Given the description of an element on the screen output the (x, y) to click on. 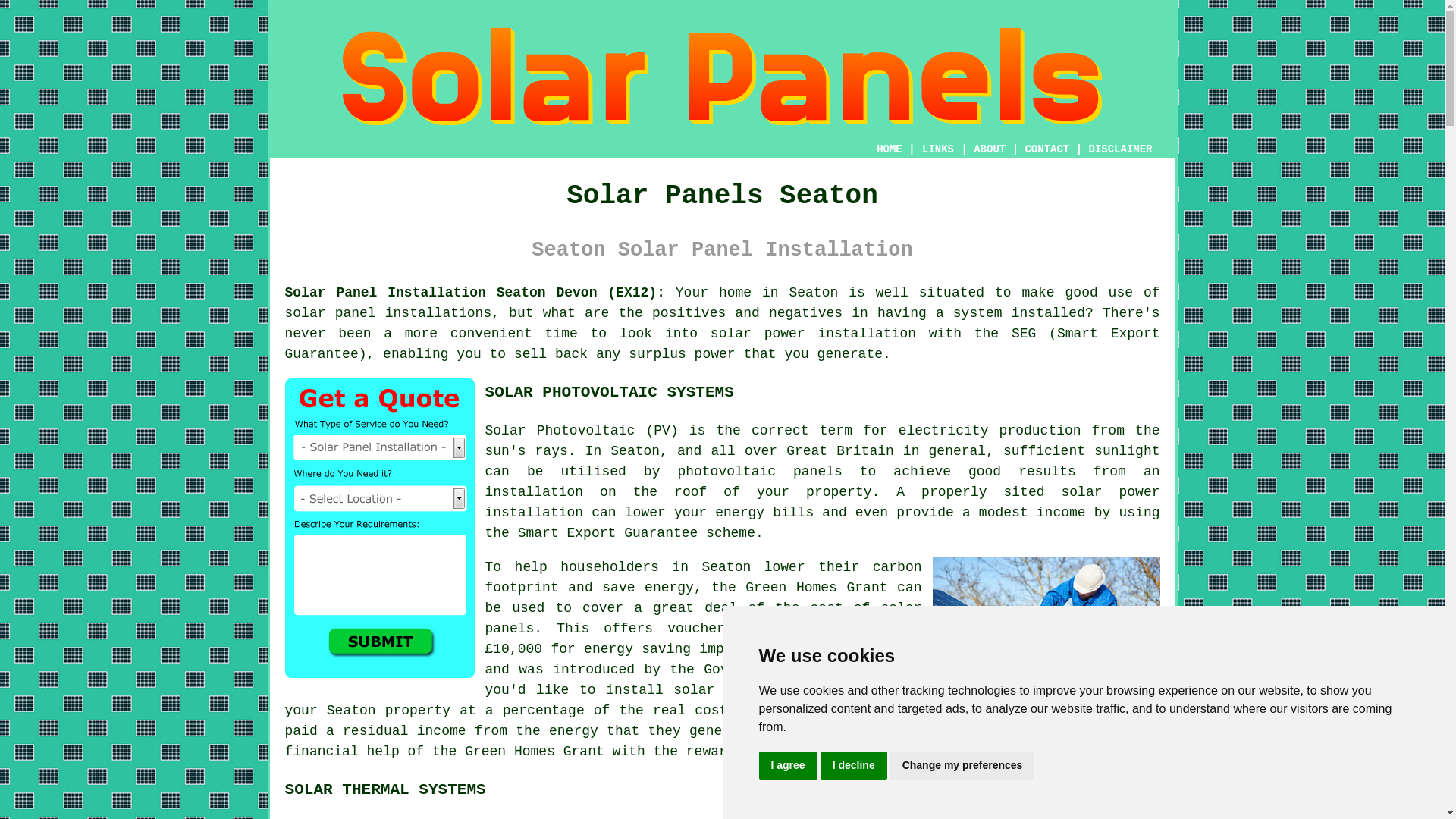
I decline (853, 765)
Seaton Solar Panel Installation Quotes (379, 528)
LINKS (938, 149)
I agree (787, 765)
Change my preferences (962, 765)
solar panels (722, 689)
HOME (889, 149)
